Given the description of an element on the screen output the (x, y) to click on. 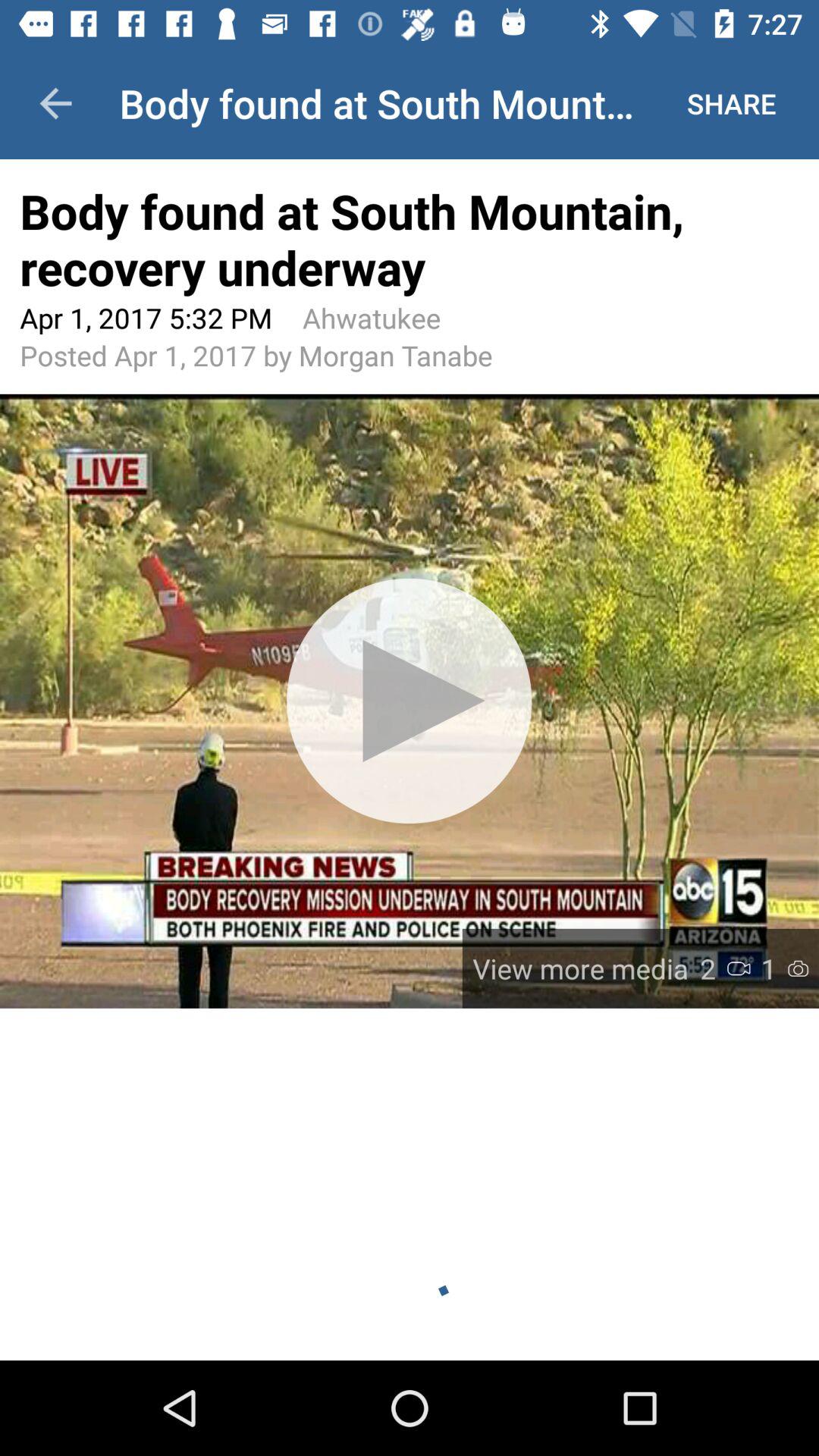
tap icon above body found at item (55, 103)
